Given the description of an element on the screen output the (x, y) to click on. 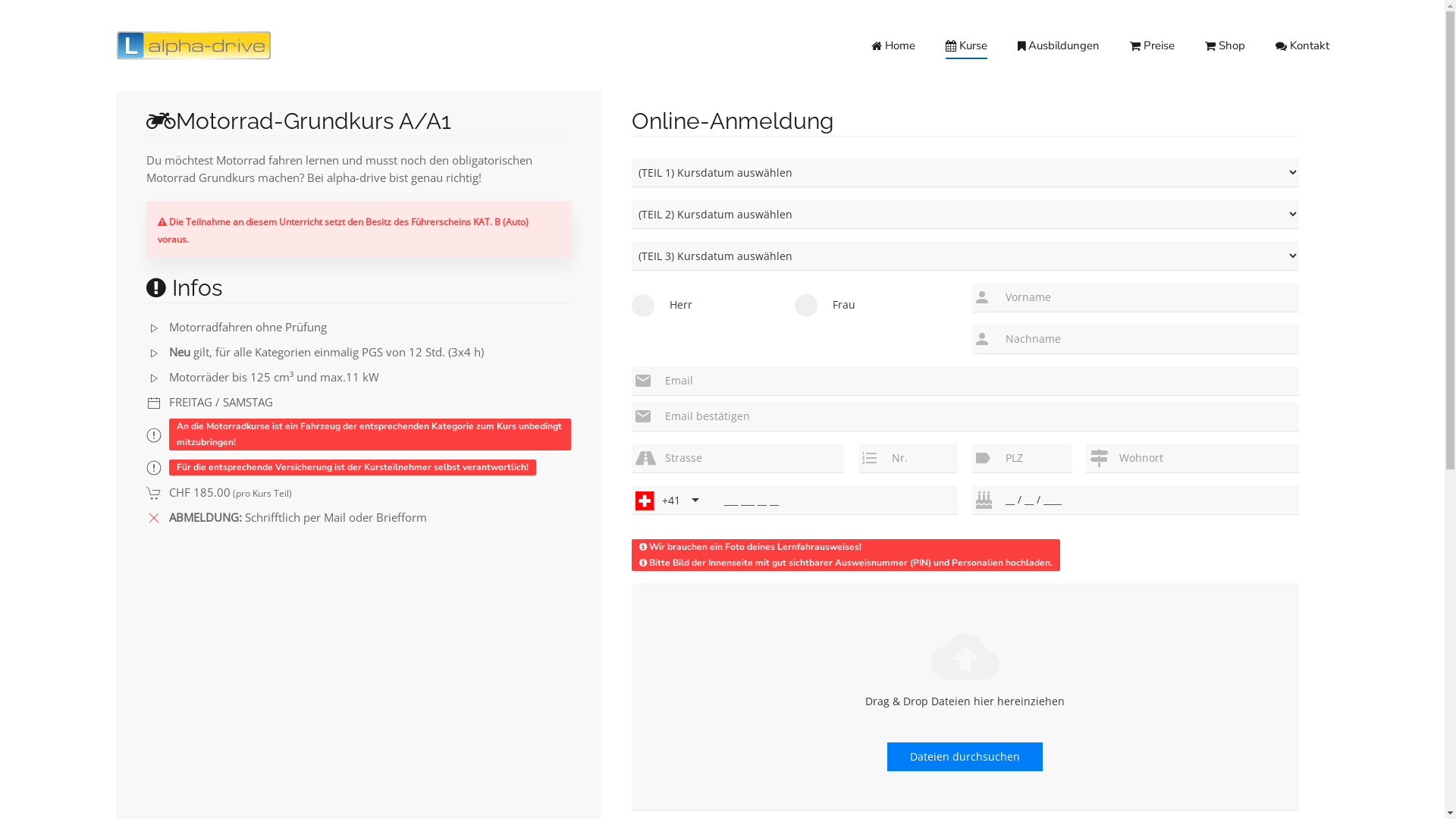
Kurse Element type: text (966, 45)
Preise Element type: text (1151, 45)
Home Element type: text (893, 45)
Shop Element type: text (1224, 45)
Ausbildungen Element type: text (1058, 45)
Kontakt Element type: text (1302, 45)
